Given the description of an element on the screen output the (x, y) to click on. 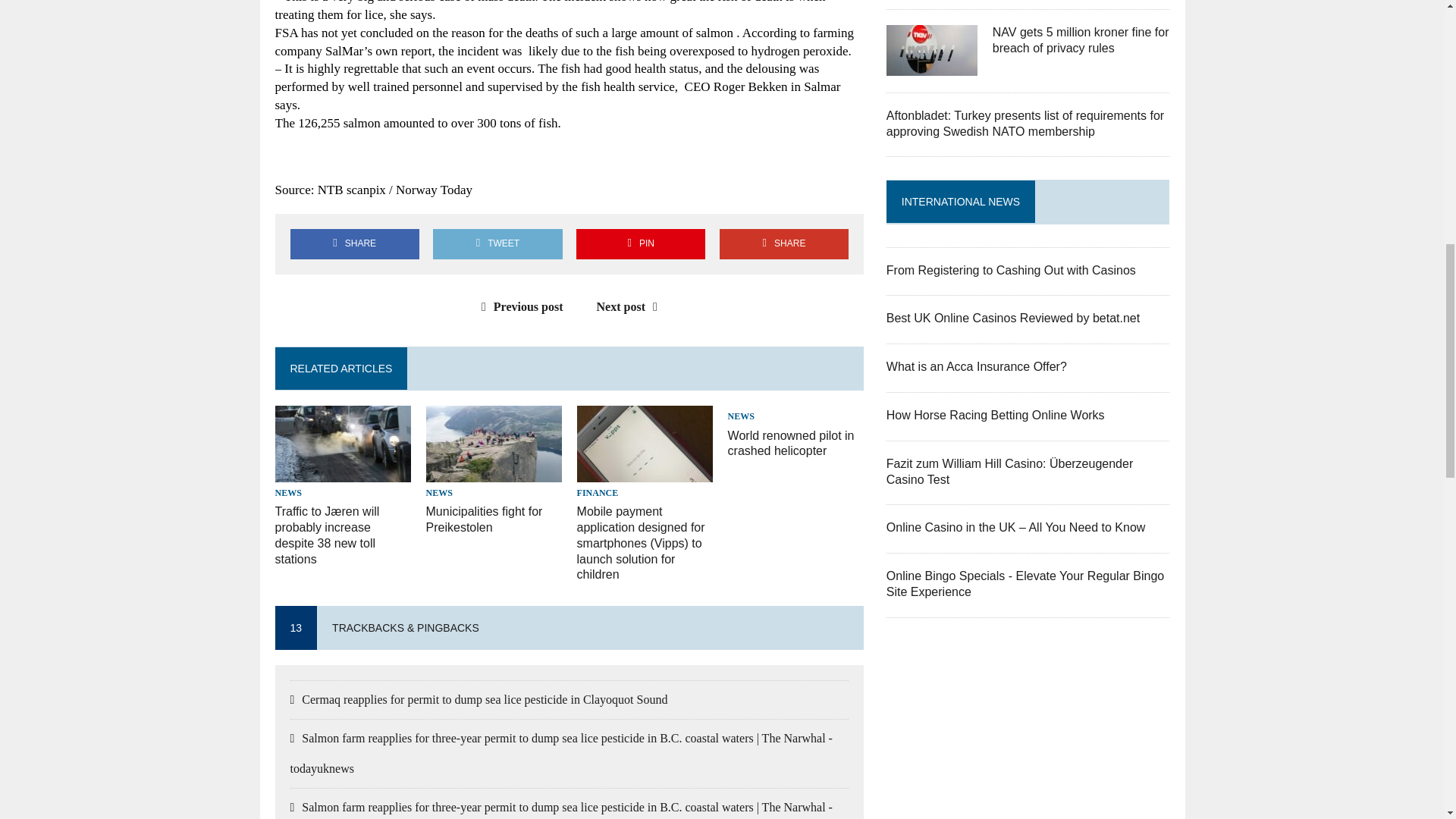
Municipalities fight for Preikestolen (494, 472)
TWEET (497, 243)
SHARE (783, 243)
Municipalities fight for Preikestolen (484, 519)
Pin This Post (640, 243)
Previous post (518, 306)
Tweet This Post (497, 243)
SHARE (354, 243)
PIN (640, 243)
Municipalities fight for Preikestolen (484, 519)
